Given the description of an element on the screen output the (x, y) to click on. 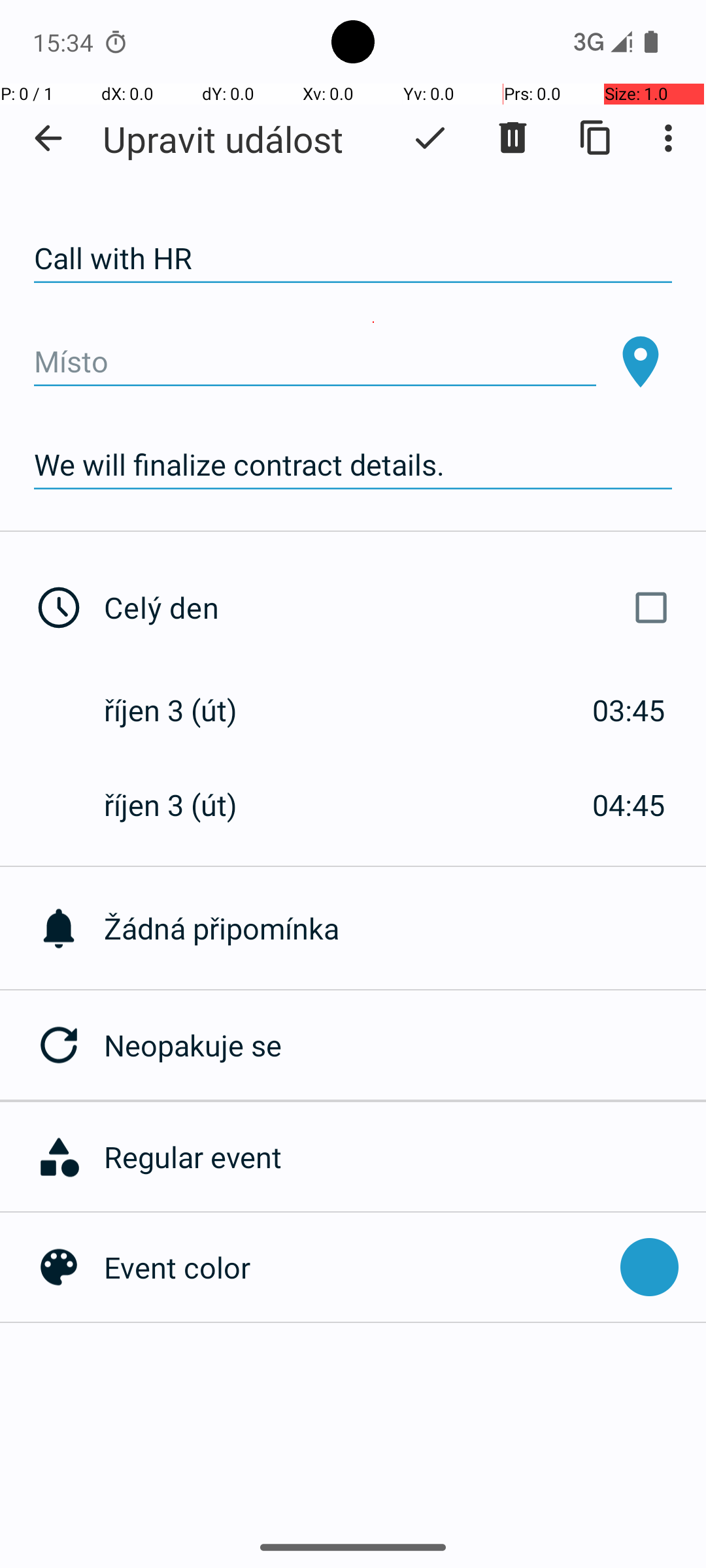
Upravit událost Element type: android.widget.TextView (222, 138)
Uložit Element type: android.widget.Button (429, 137)
Smazat Element type: android.widget.Button (512, 137)
Zkopírovat událost Element type: android.widget.Button (595, 137)
Místo Element type: android.widget.EditText (314, 361)
We will finalize contract details. Element type: android.widget.EditText (352, 465)
říjen 3 (út) Element type: android.widget.TextView (183, 709)
03:45 Element type: android.widget.TextView (628, 709)
04:45 Element type: android.widget.TextView (628, 804)
Žádná připomínka Element type: android.widget.TextView (404, 927)
Neopakuje se Element type: android.widget.TextView (404, 1044)
Celý den Element type: android.widget.CheckBox (390, 607)
